Given the description of an element on the screen output the (x, y) to click on. 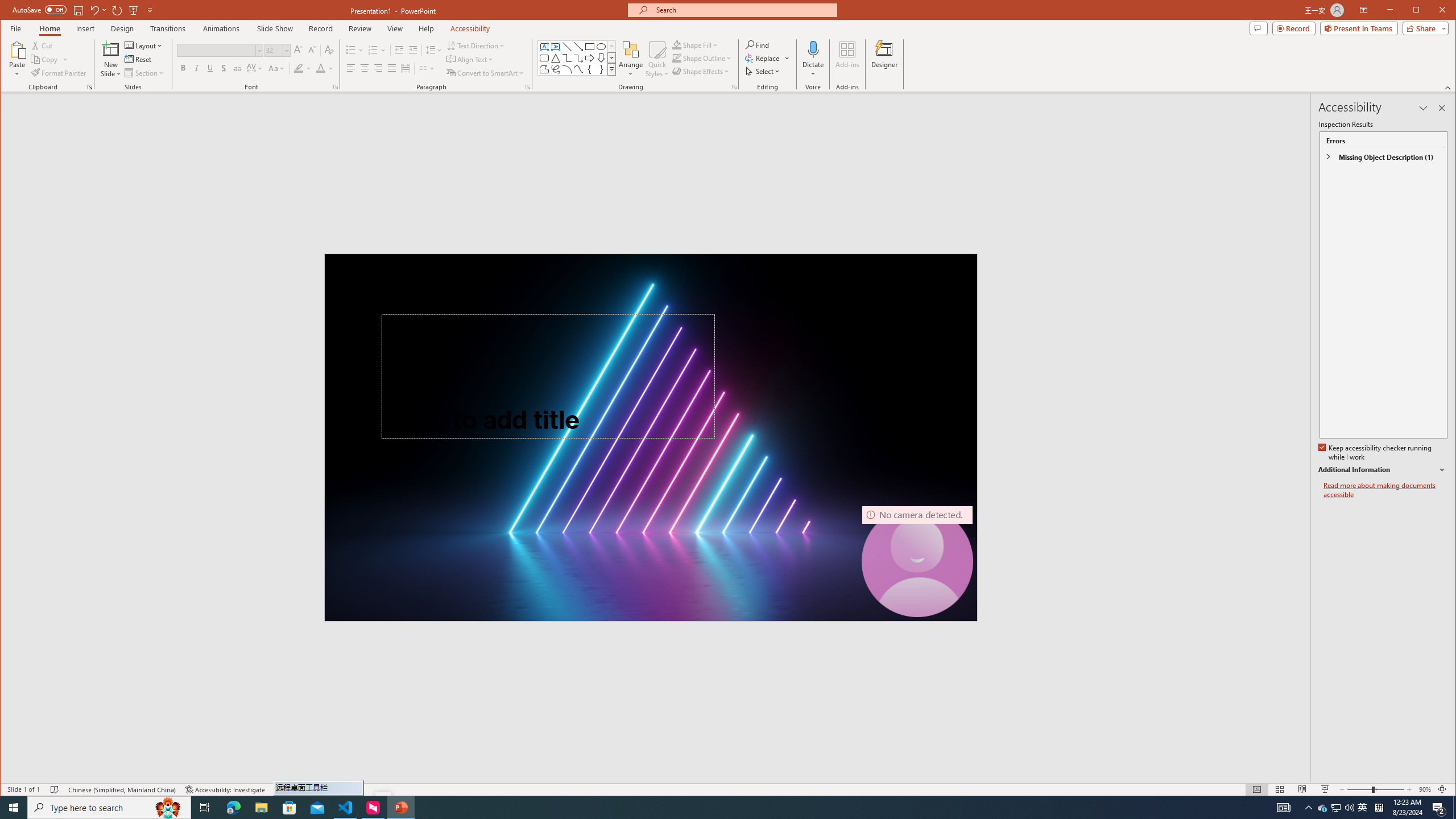
Zoom 90% (1424, 789)
Microsoft Edge (233, 807)
Shape Outline Blue, Accent 1 (676, 57)
